Given the description of an element on the screen output the (x, y) to click on. 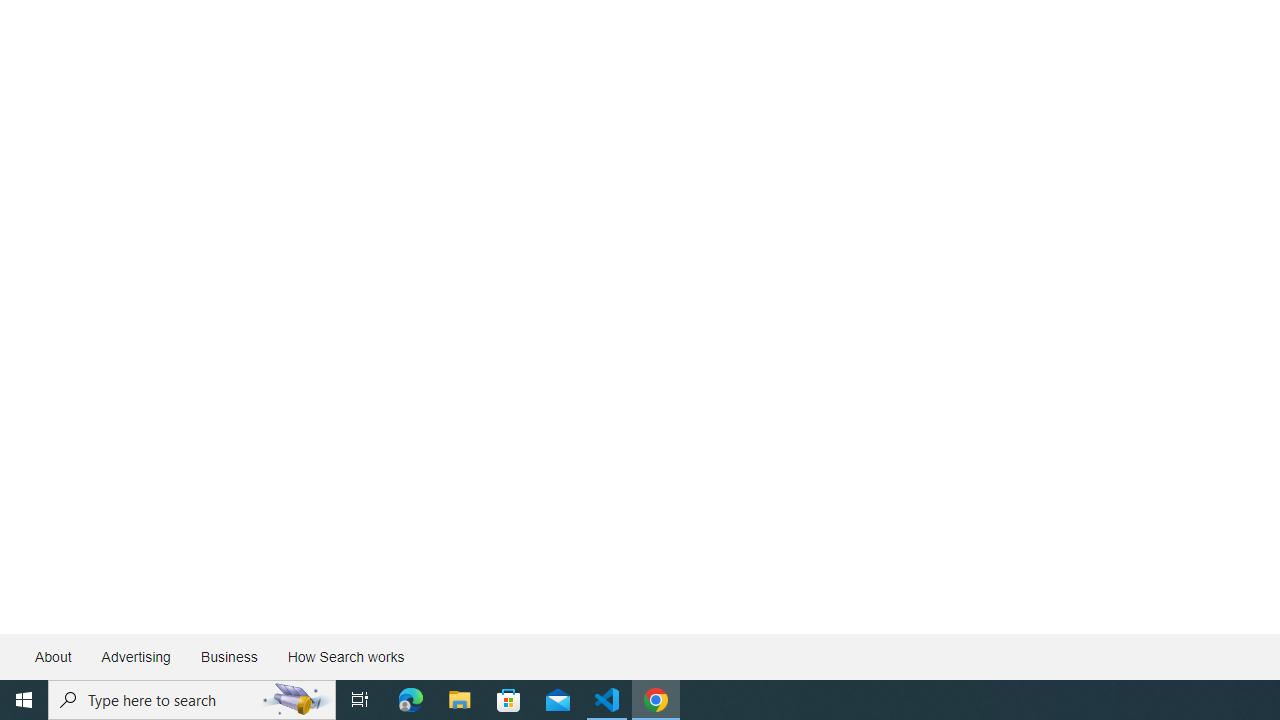
About (53, 656)
Advertising (135, 656)
How Search works (345, 656)
Business (228, 656)
